Given the description of an element on the screen output the (x, y) to click on. 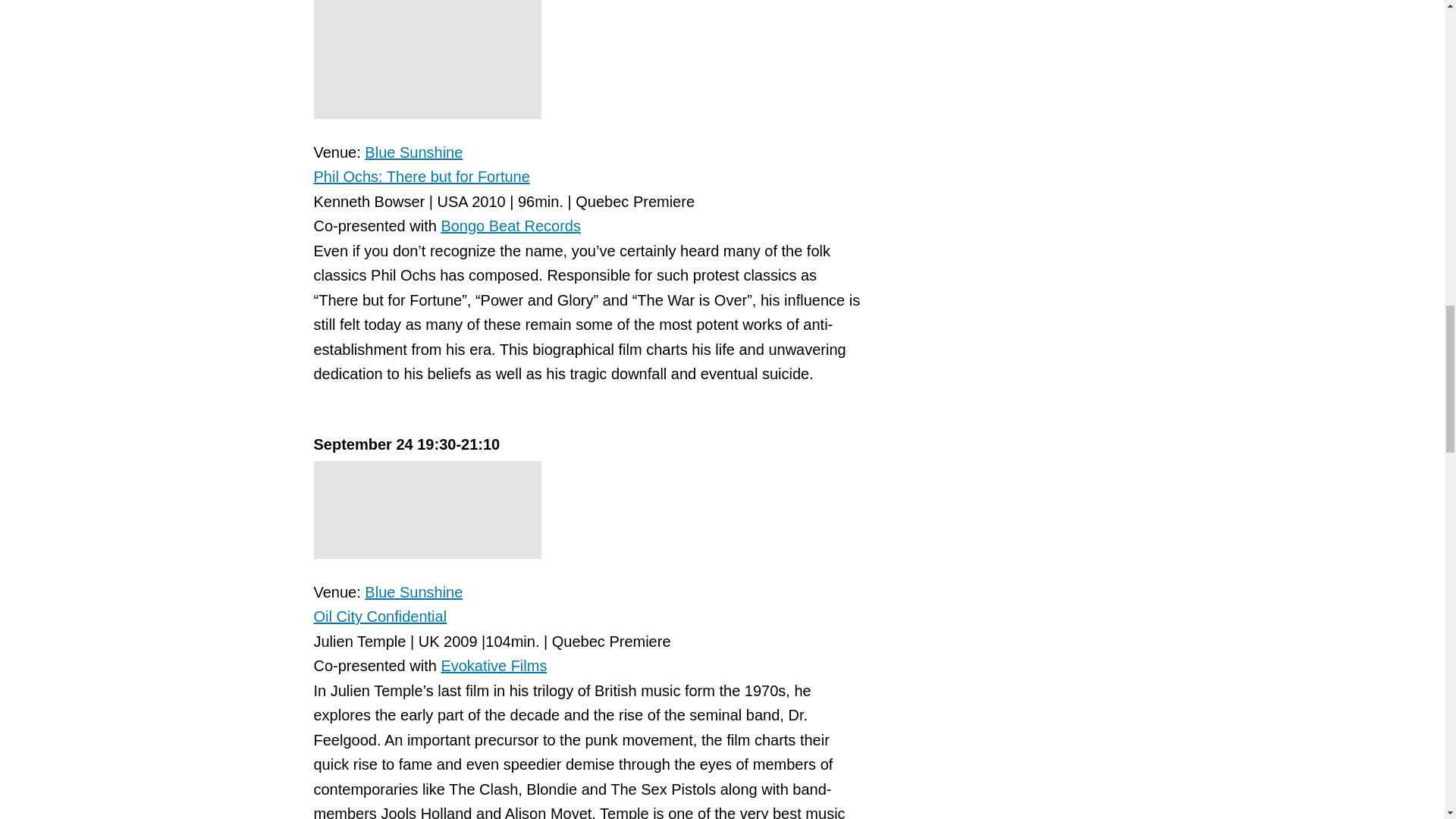
Blue Sunshine (414, 591)
oil city web (427, 509)
Bongo Beat Records (510, 225)
Blue Sunshine (414, 152)
Phil Ochs: There but for Fortune (421, 176)
Evokative Films (494, 665)
Oil City Confidential (380, 616)
